Given the description of an element on the screen output the (x, y) to click on. 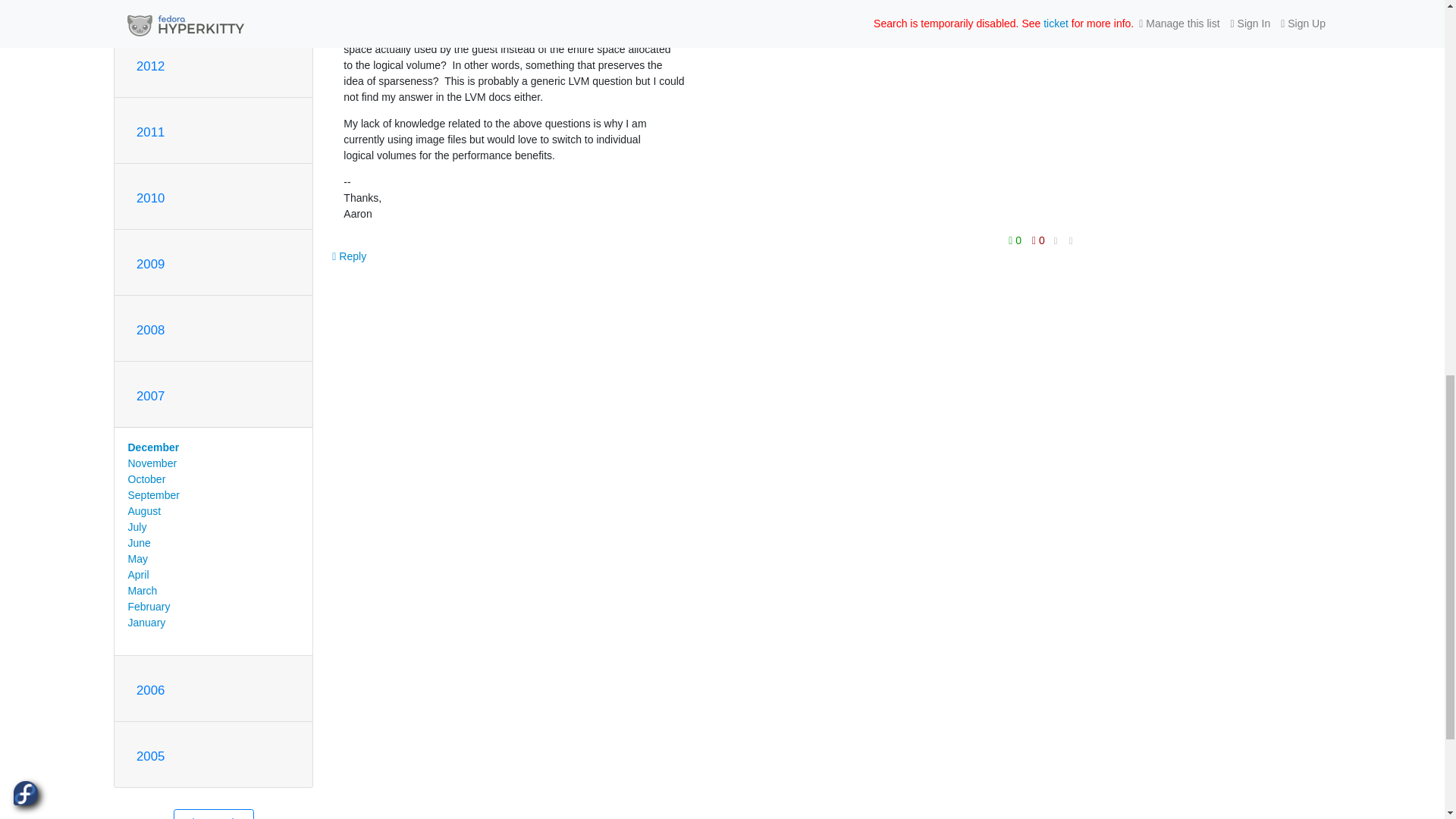
You must be logged-in to vote. (1015, 240)
You must be logged-in to vote. (1037, 240)
Sign in to reply online (349, 256)
